Given the description of an element on the screen output the (x, y) to click on. 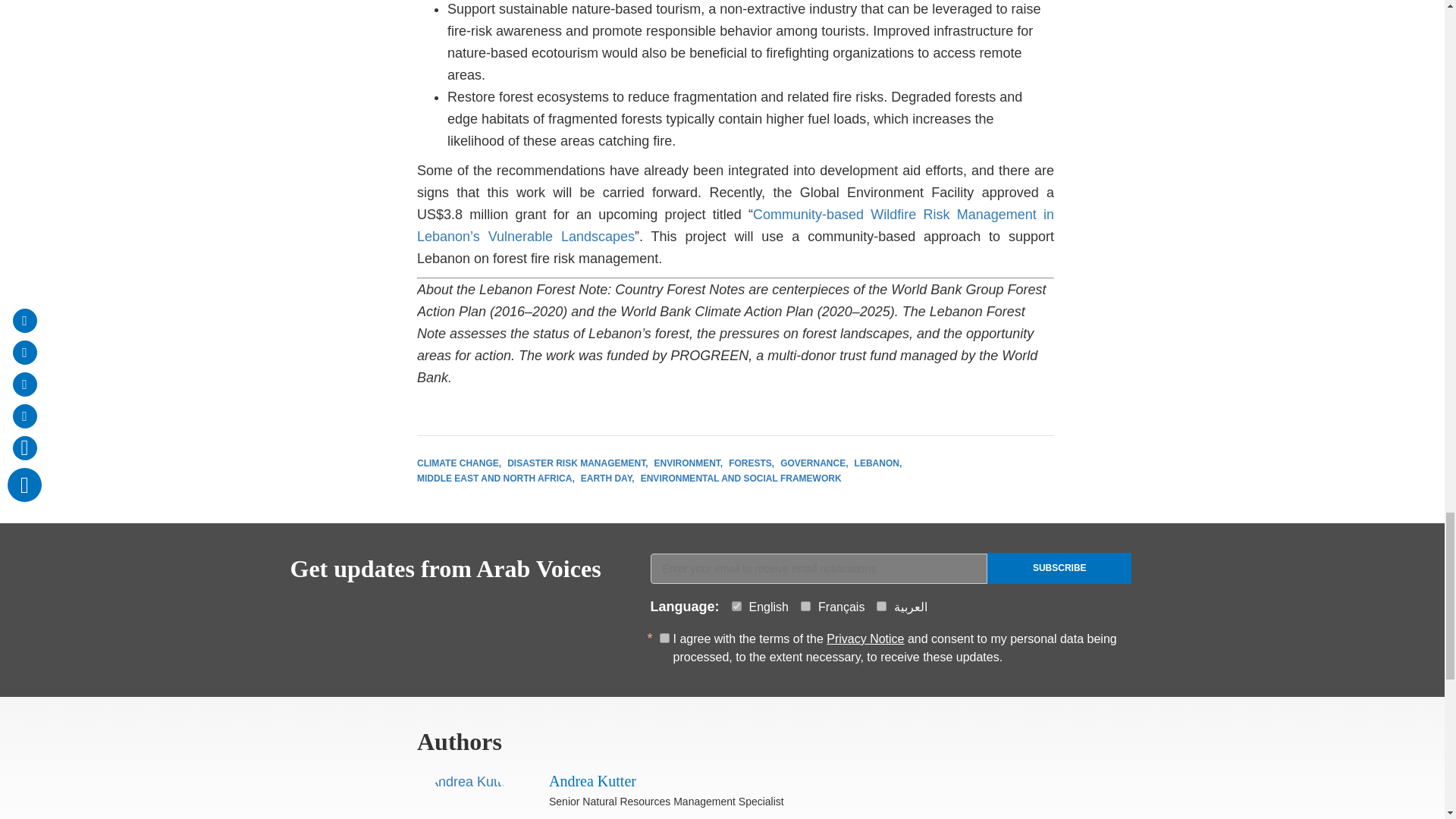
1 (664, 637)
fr (805, 605)
ar (881, 605)
MIDDLE EAST AND NORTH AFRICA (495, 478)
ENVIRONMENTAL AND SOCIAL FRAMEWORK (740, 478)
CLIMATE CHANGE (458, 462)
LEBANON (878, 462)
en (736, 605)
EARTH DAY (607, 478)
